Given the description of an element on the screen output the (x, y) to click on. 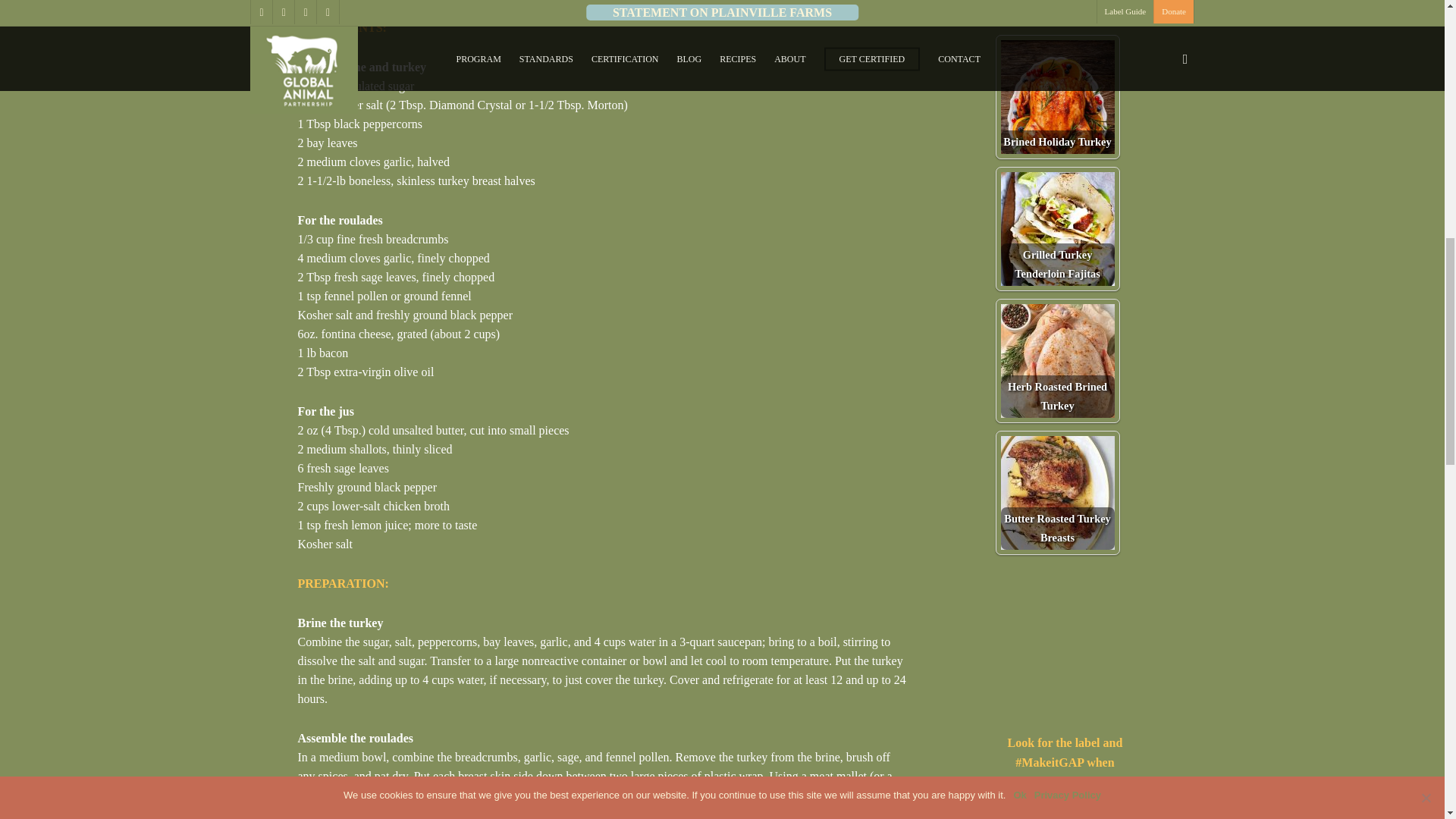
Butter Roasted Turkey Breasts (1058, 492)
Herb Roasted Brined Turkey (1058, 360)
Grilled Turkey Tenderloin Fajitas (1058, 228)
